Given the description of an element on the screen output the (x, y) to click on. 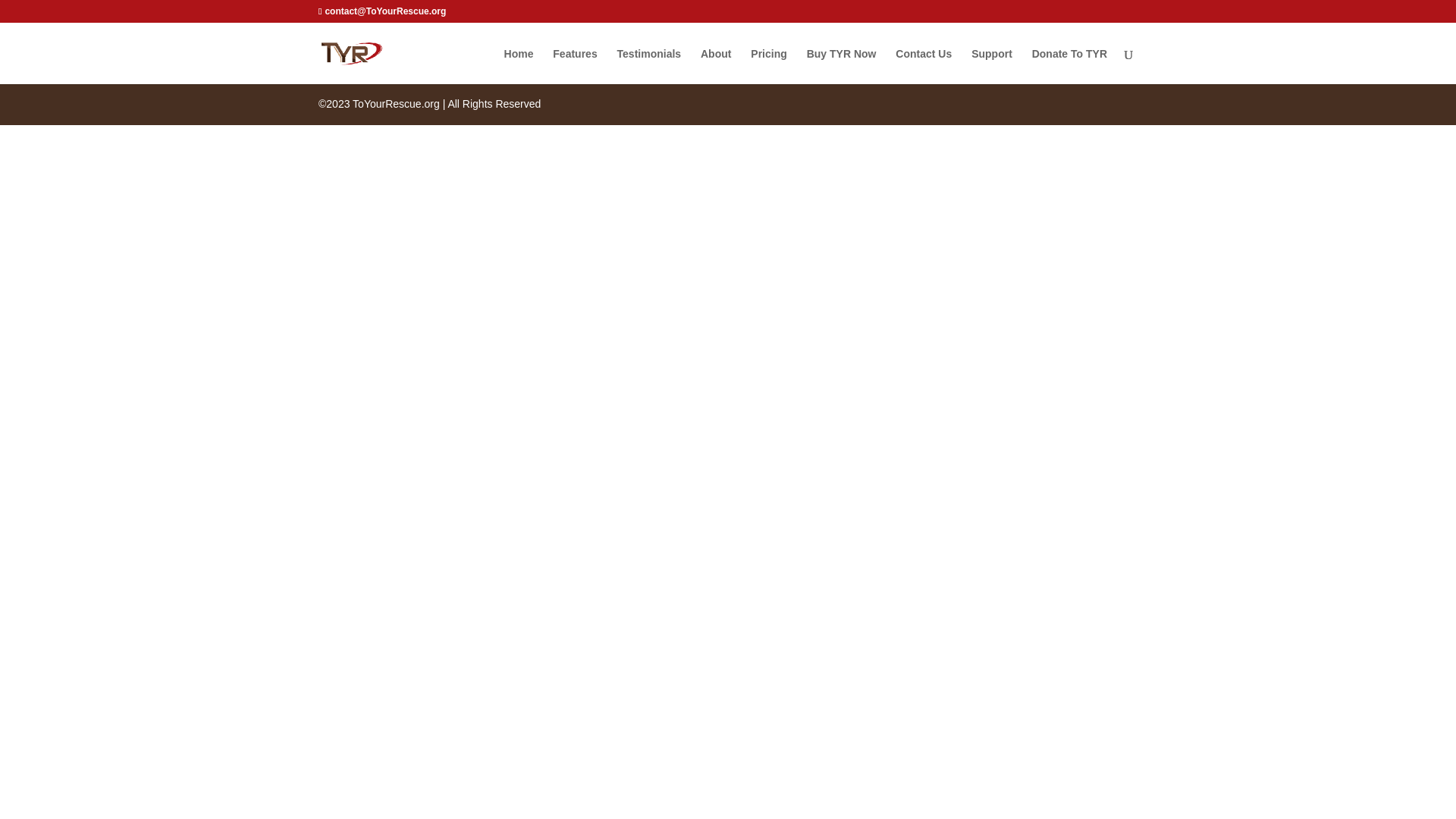
Contact Us (923, 66)
Buy TYR Now (841, 66)
About (715, 66)
Home (518, 66)
Support (991, 66)
Testimonials (649, 66)
Donate To TYR (1069, 66)
Pricing (768, 66)
Features (574, 66)
